Given the description of an element on the screen output the (x, y) to click on. 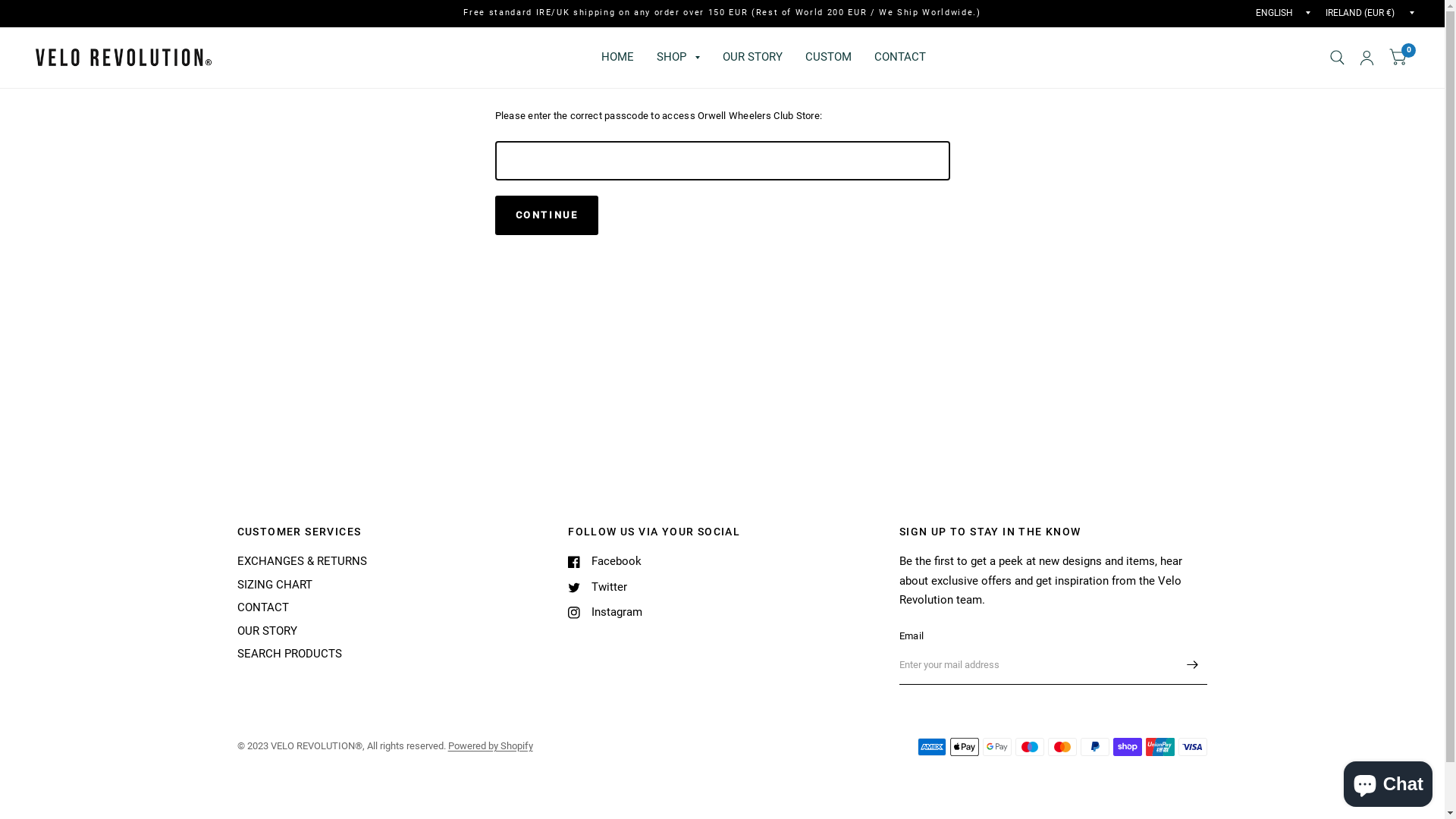
Instagram Element type: text (604, 612)
CONTACT Element type: text (899, 57)
My Account Element type: hover (1366, 57)
0 Element type: text (1397, 57)
OUR STORY Element type: text (752, 57)
Facebook Element type: text (604, 561)
CONTACT Element type: text (262, 607)
SIZING CHART Element type: text (273, 584)
EXCHANGES & RETURNS Element type: text (301, 560)
CONTINUE Element type: text (546, 215)
Powered by Shopify Element type: text (490, 745)
Shopify online store chat Element type: hover (1388, 780)
SHOP Element type: text (677, 57)
OUR STORY Element type: text (266, 630)
HOME Element type: text (617, 57)
CUSTOM Element type: text (828, 57)
Search Element type: hover (1337, 57)
Twitter Element type: text (597, 587)
SEARCH PRODUCTS Element type: text (288, 653)
